Given the description of an element on the screen output the (x, y) to click on. 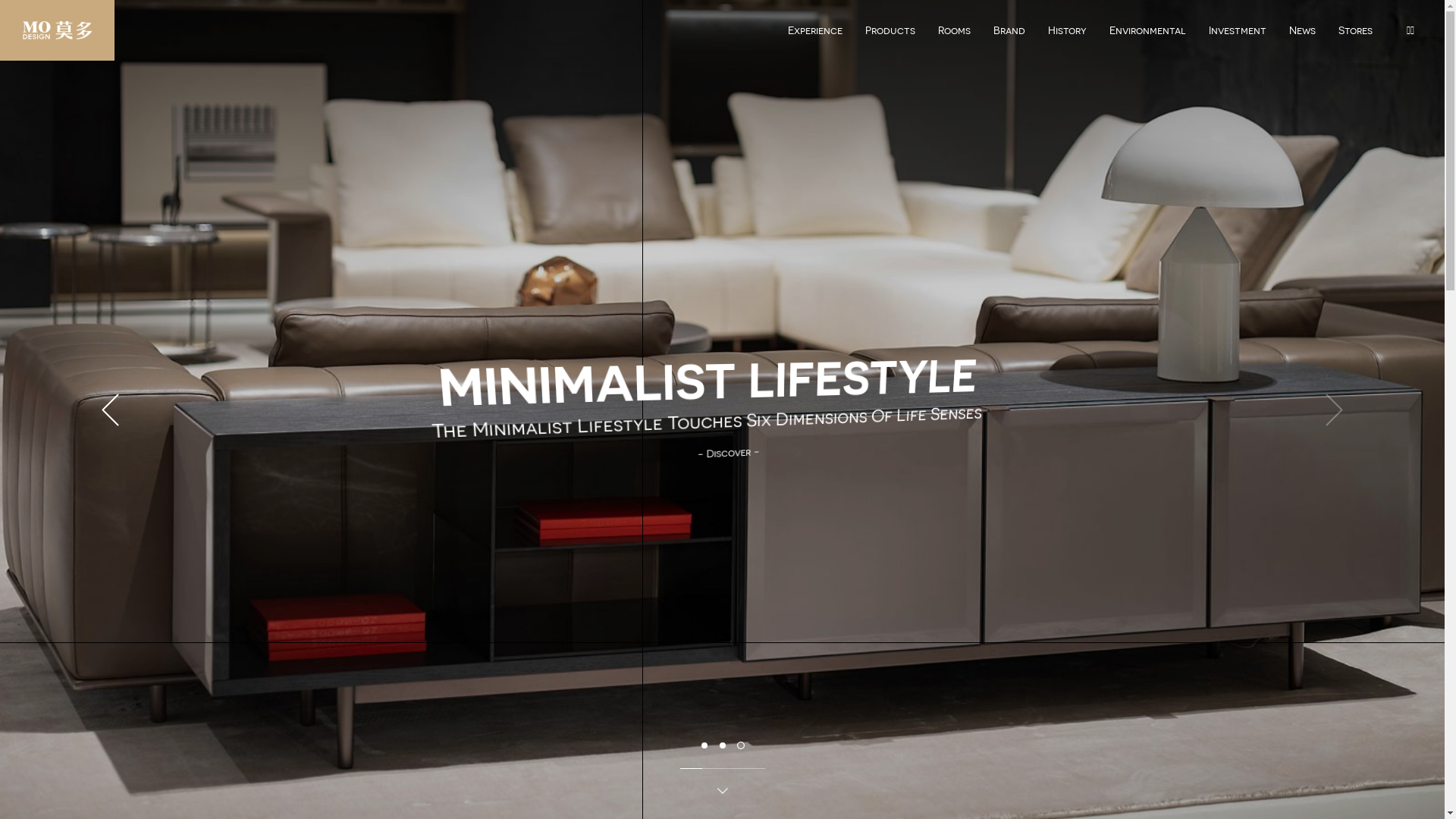
Rooms Element type: text (954, 25)
History Element type: text (1067, 25)
Stores Element type: text (1355, 25)
Products Element type: text (889, 25)
Environmental Element type: text (1147, 25)
Experience Element type: text (814, 25)
Investment Element type: text (1237, 25)
News Element type: text (1302, 25)
ITALIAN MINIMALISM
Experience Pavilion
- Discover - Element type: text (712, 421)
Brand Element type: text (1009, 25)
